Given the description of an element on the screen output the (x, y) to click on. 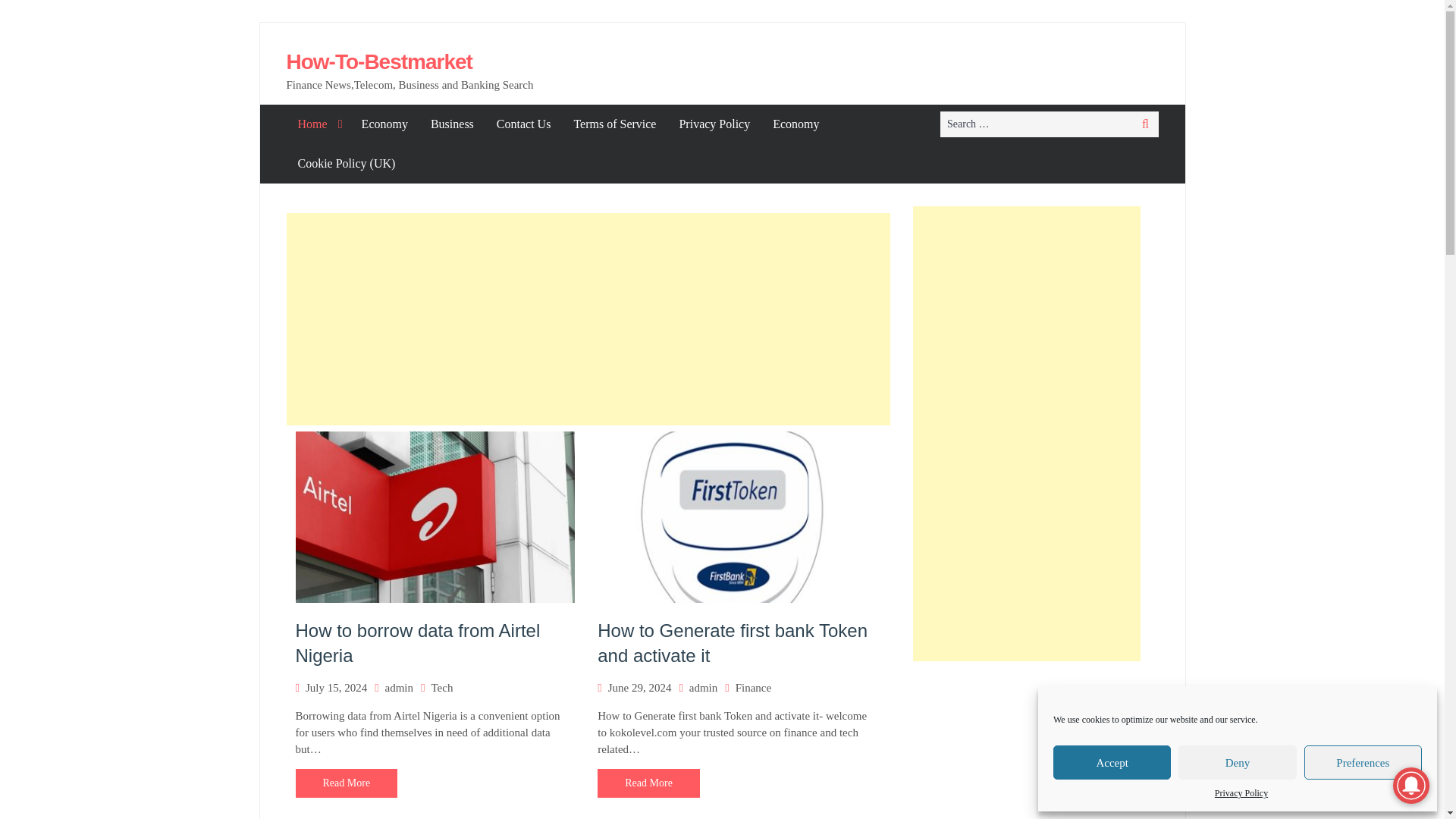
Home (318, 124)
How-To-Bestmarket (378, 61)
Advertisement (587, 318)
admin (702, 687)
June 29, 2024 (639, 687)
Finance (753, 687)
Accept (1111, 762)
How to borrow data from Airtel Nigeria (417, 642)
How to Generate first bank Token and activate it (731, 642)
Terms of Service (614, 124)
Contact Us (523, 124)
Business (451, 124)
Read More (648, 783)
Search (1145, 124)
Tech (441, 687)
